Given the description of an element on the screen output the (x, y) to click on. 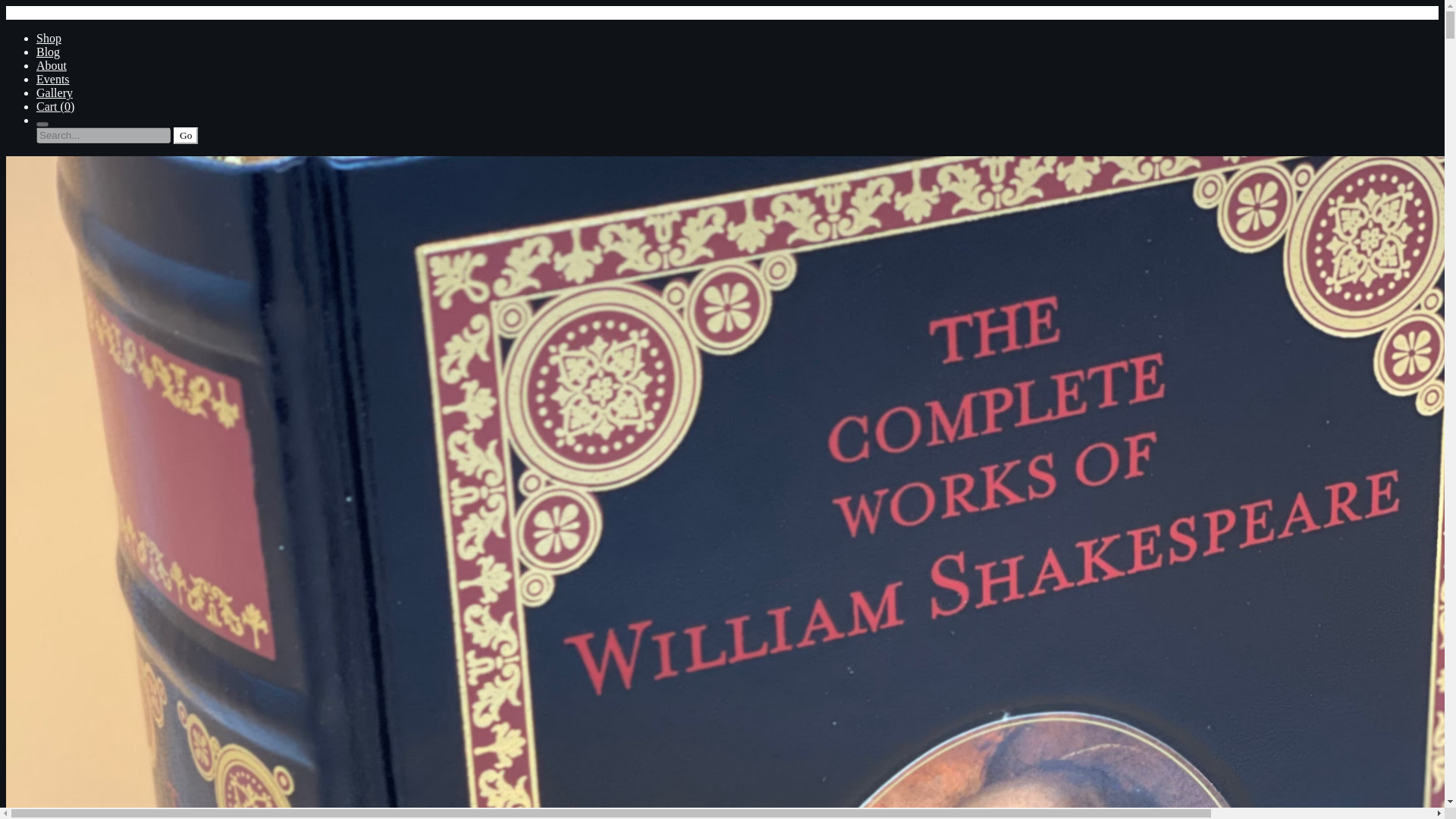
Go (185, 135)
Go (185, 135)
Blog (47, 51)
About (51, 65)
Shop (48, 38)
Events (52, 78)
Gallery (54, 92)
